Given the description of an element on the screen output the (x, y) to click on. 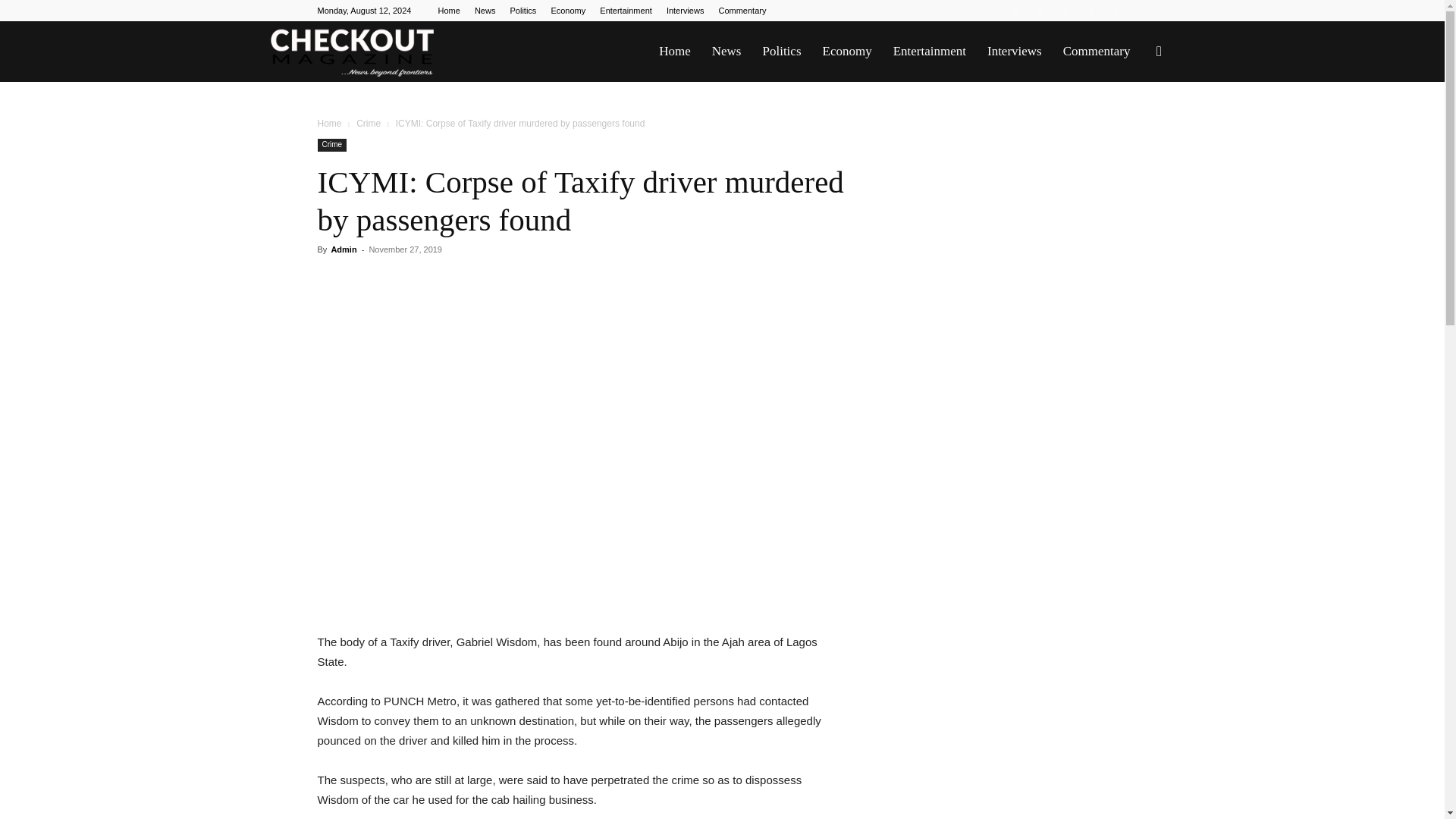
Youtube (1114, 10)
Twitter (1090, 10)
Entertainment (624, 10)
Commentary (741, 10)
View all posts in Crime (368, 122)
CHECKOUT MAGAZINE (351, 52)
Facebook (1015, 10)
Entertainment (929, 51)
Home (449, 10)
Interviews (1014, 51)
